Given the description of an element on the screen output the (x, y) to click on. 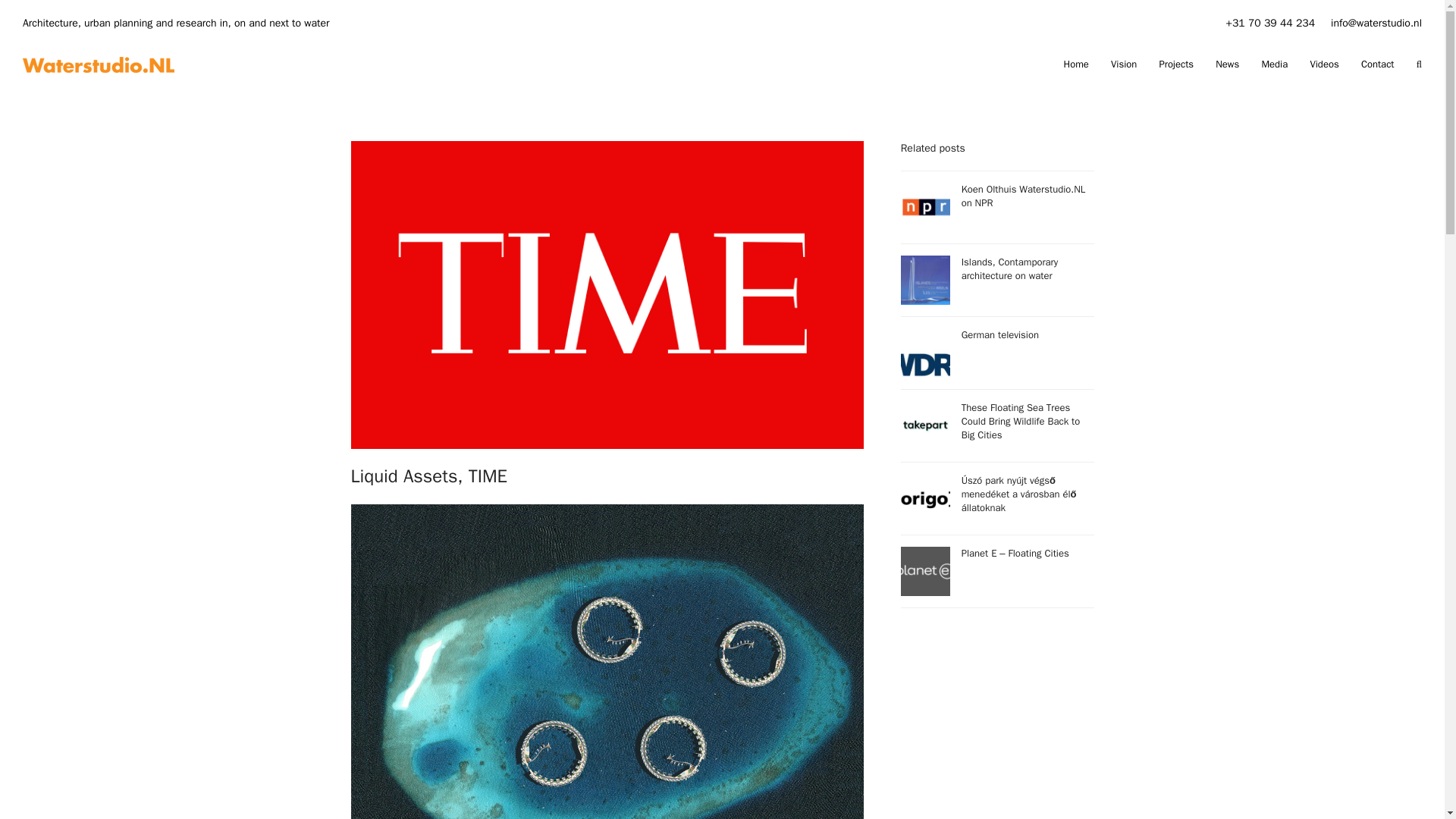
Projects (1175, 64)
Liquid Assets, TIME (428, 476)
German television (997, 352)
Islands, Contamporary architecture on water (997, 279)
Koen Olthuis Waterstudio.NL on NPR (997, 206)
Liquid Assets, TIME (606, 293)
